Given the description of an element on the screen output the (x, y) to click on. 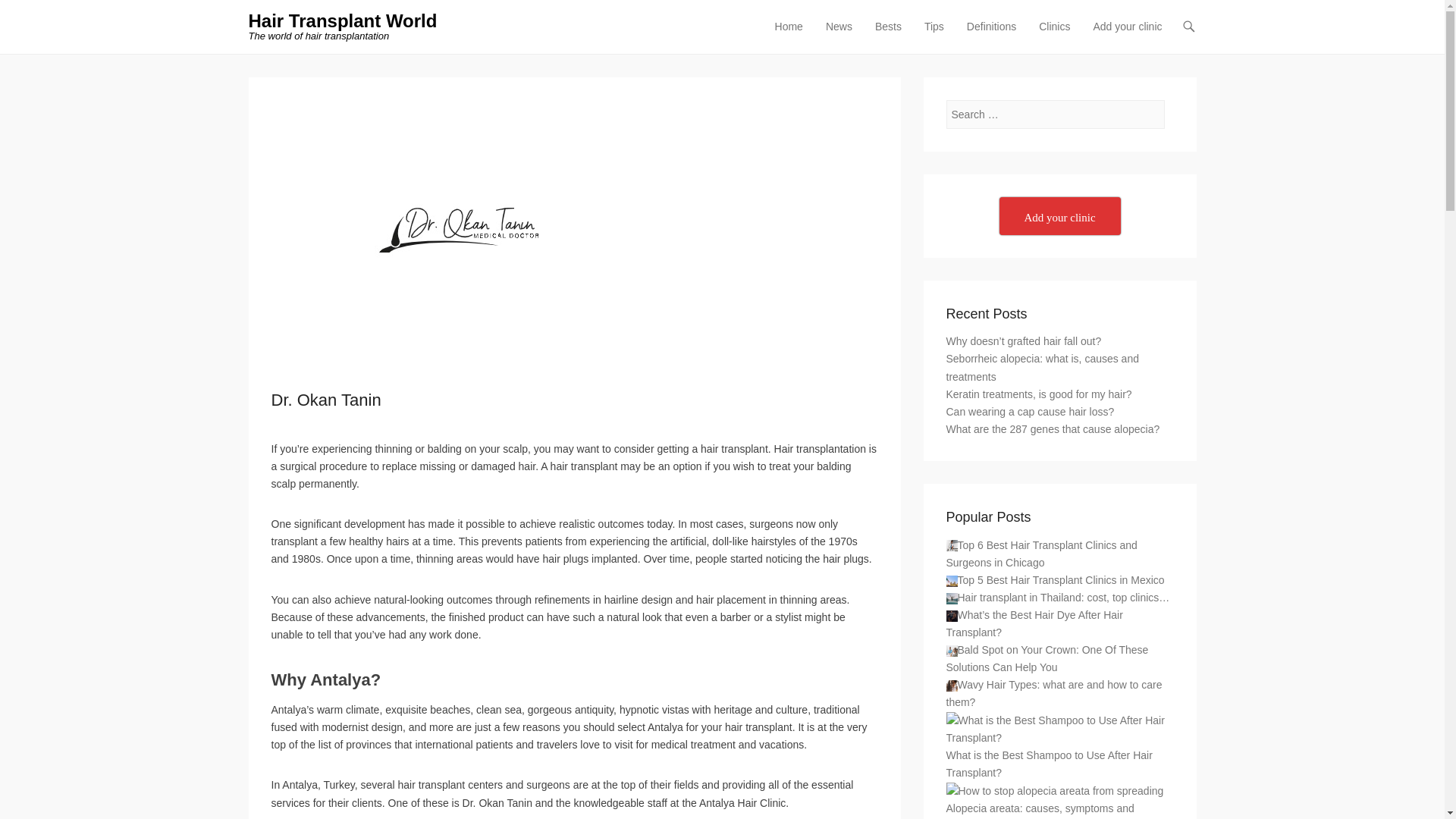
Home (788, 35)
Clinics (1053, 35)
Definitions (991, 35)
Tips (934, 35)
What is the Best Shampoo to Use After Hair Transplant? (1059, 728)
News (839, 35)
Bald Spot on Your Crown: One Of These Solutions Can Help You (952, 650)
Bests (887, 35)
Skip to content (802, 27)
Add your clinic (1126, 35)
Skip to content (802, 27)
Hair Transplant World (343, 20)
What's the Best Hair Dye After Hair Transplant? (952, 615)
Alopecia areata: causes, symptoms and treatmens (1054, 791)
